Given the description of an element on the screen output the (x, y) to click on. 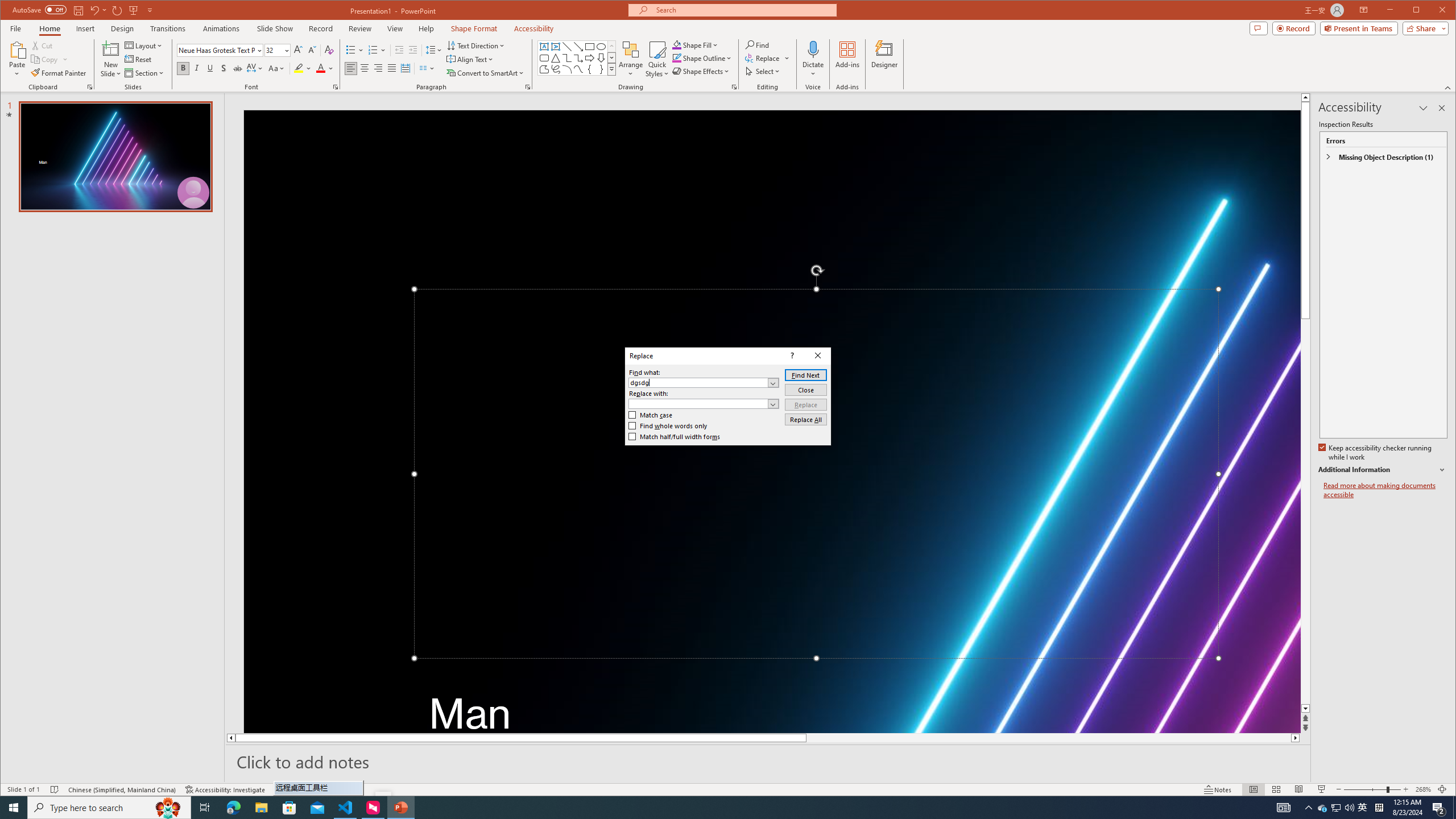
Match half/full width forms (674, 436)
Replace All (1322, 807)
